Given the description of an element on the screen output the (x, y) to click on. 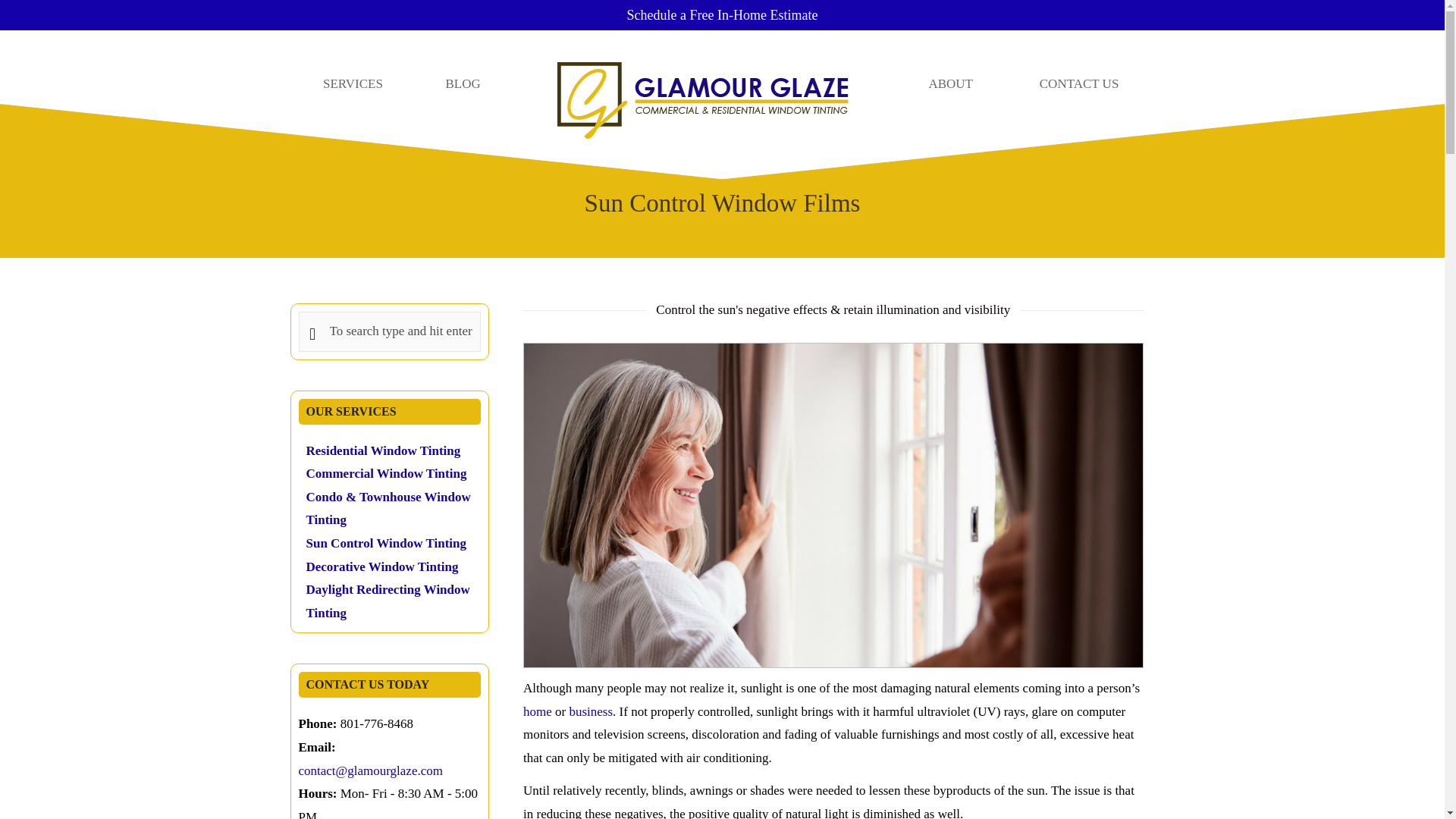
SERVICES (351, 83)
ABOUT (951, 83)
BLOG (461, 83)
home (536, 711)
Schedule a Free In-Home Estimate (722, 14)
business (590, 711)
